Given the description of an element on the screen output the (x, y) to click on. 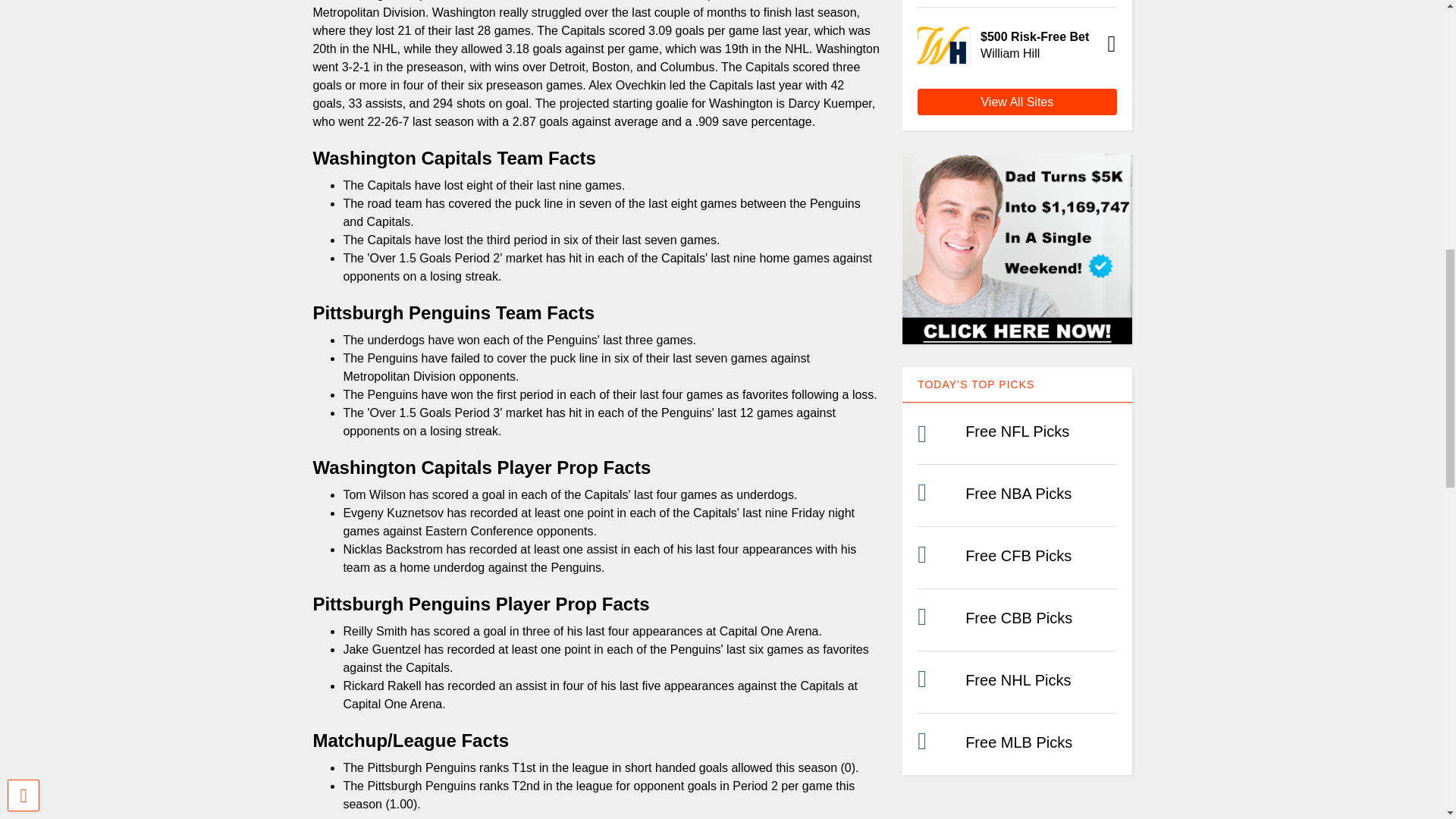
Free CFB Picks (1018, 555)
Free NHL Picks (1017, 679)
Free NFL Picks (1016, 431)
Free NBA Picks (1018, 493)
Free CBB Picks (1018, 617)
Free MLB Picks (1018, 742)
